Given the description of an element on the screen output the (x, y) to click on. 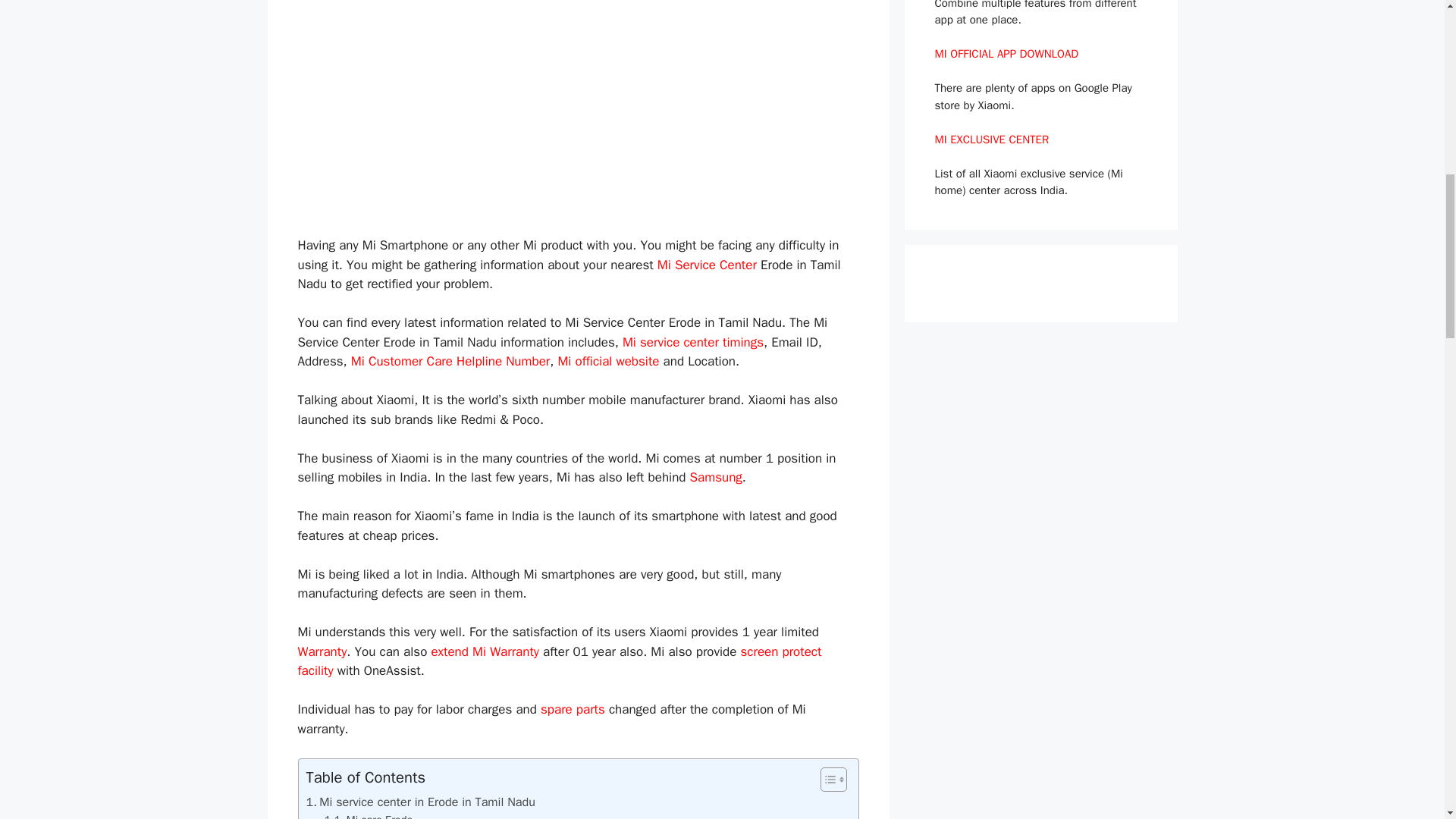
Scroll back to top (1406, 720)
Mi care Erode (368, 815)
Mi service center in Erode in Tamil Nadu (420, 802)
Advertisement (585, 104)
